Given the description of an element on the screen output the (x, y) to click on. 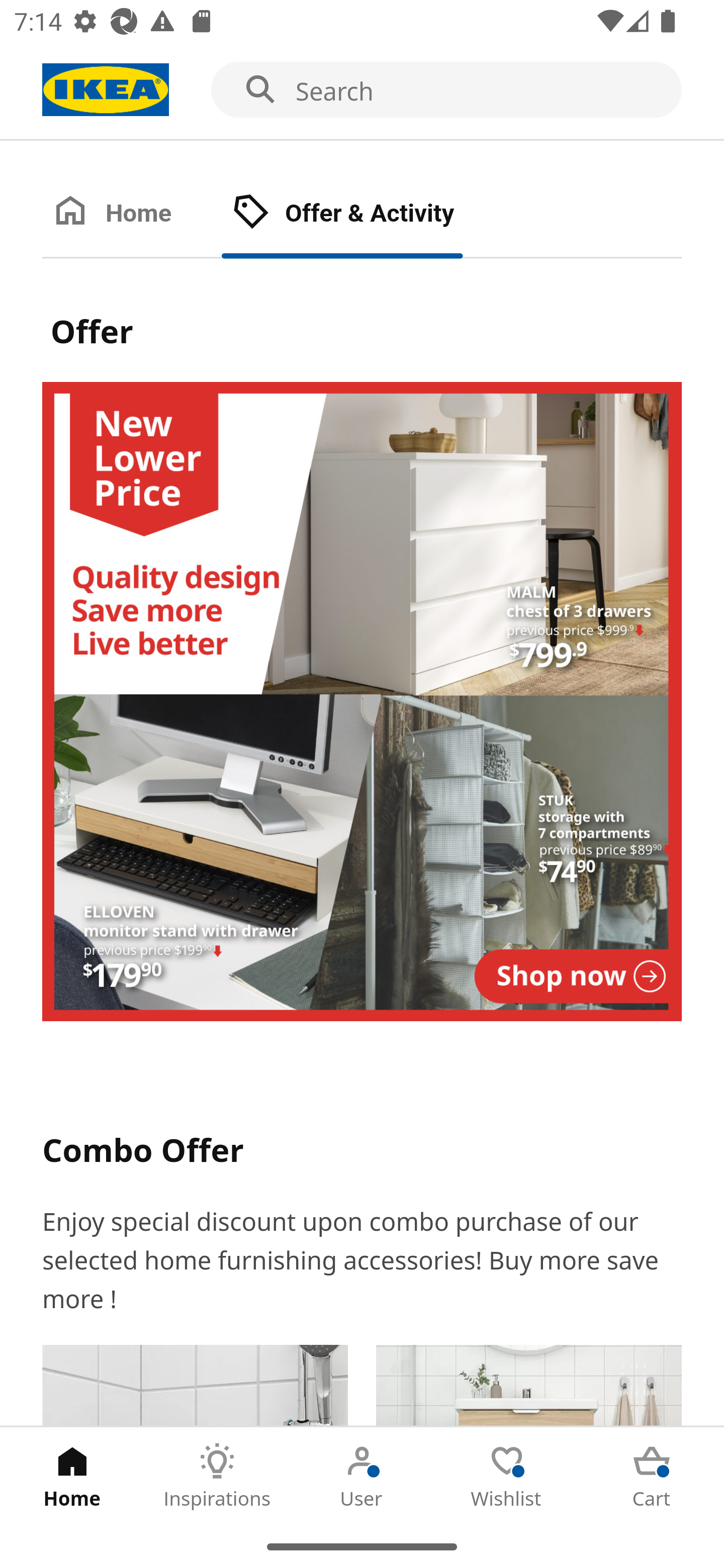
Search (361, 90)
Home
Tab 1 of 2 (131, 213)
Offer & Activity
Tab 2 of 2 (363, 213)
Home
Tab 1 of 5 (72, 1476)
Inspirations
Tab 2 of 5 (216, 1476)
User
Tab 3 of 5 (361, 1476)
Wishlist
Tab 4 of 5 (506, 1476)
Cart
Tab 5 of 5 (651, 1476)
